Given the description of an element on the screen output the (x, y) to click on. 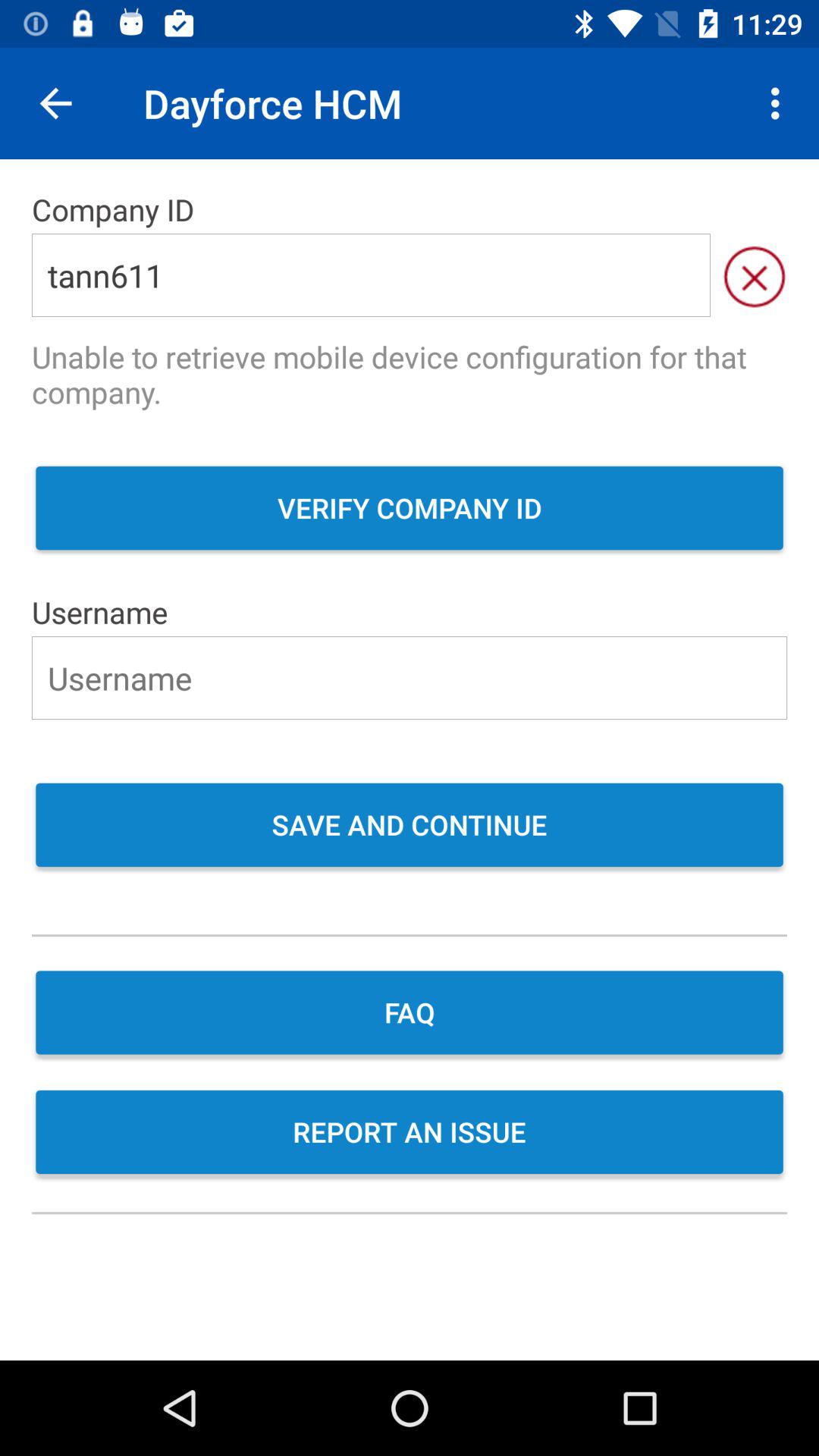
flip to the tann611 item (370, 274)
